Given the description of an element on the screen output the (x, y) to click on. 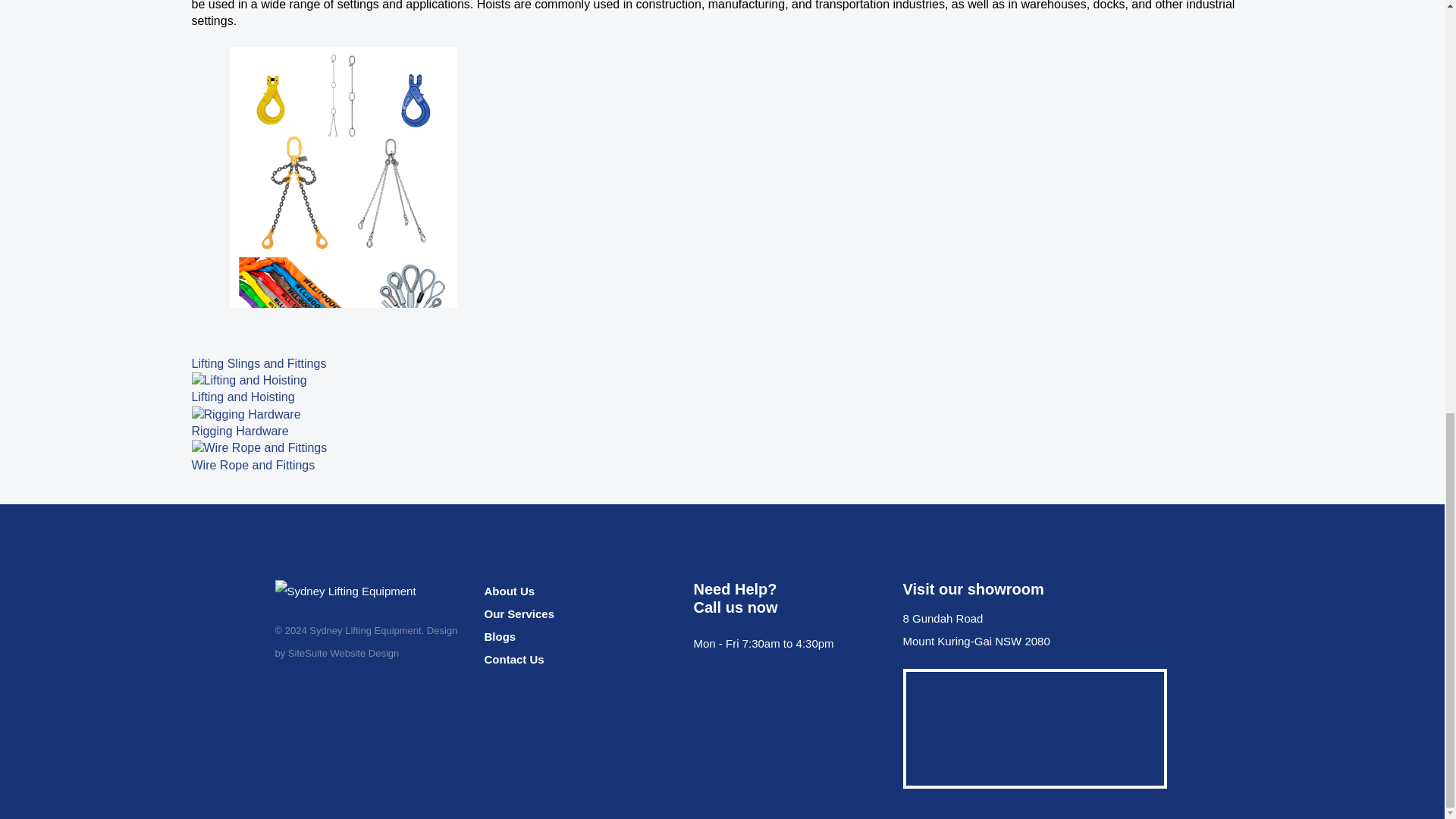
Rigging Hardware (244, 414)
Lifting and Hoisting (247, 380)
Lifting Slings and Fittings (342, 198)
Wire Rope and Fittings (258, 447)
